Given the description of an element on the screen output the (x, y) to click on. 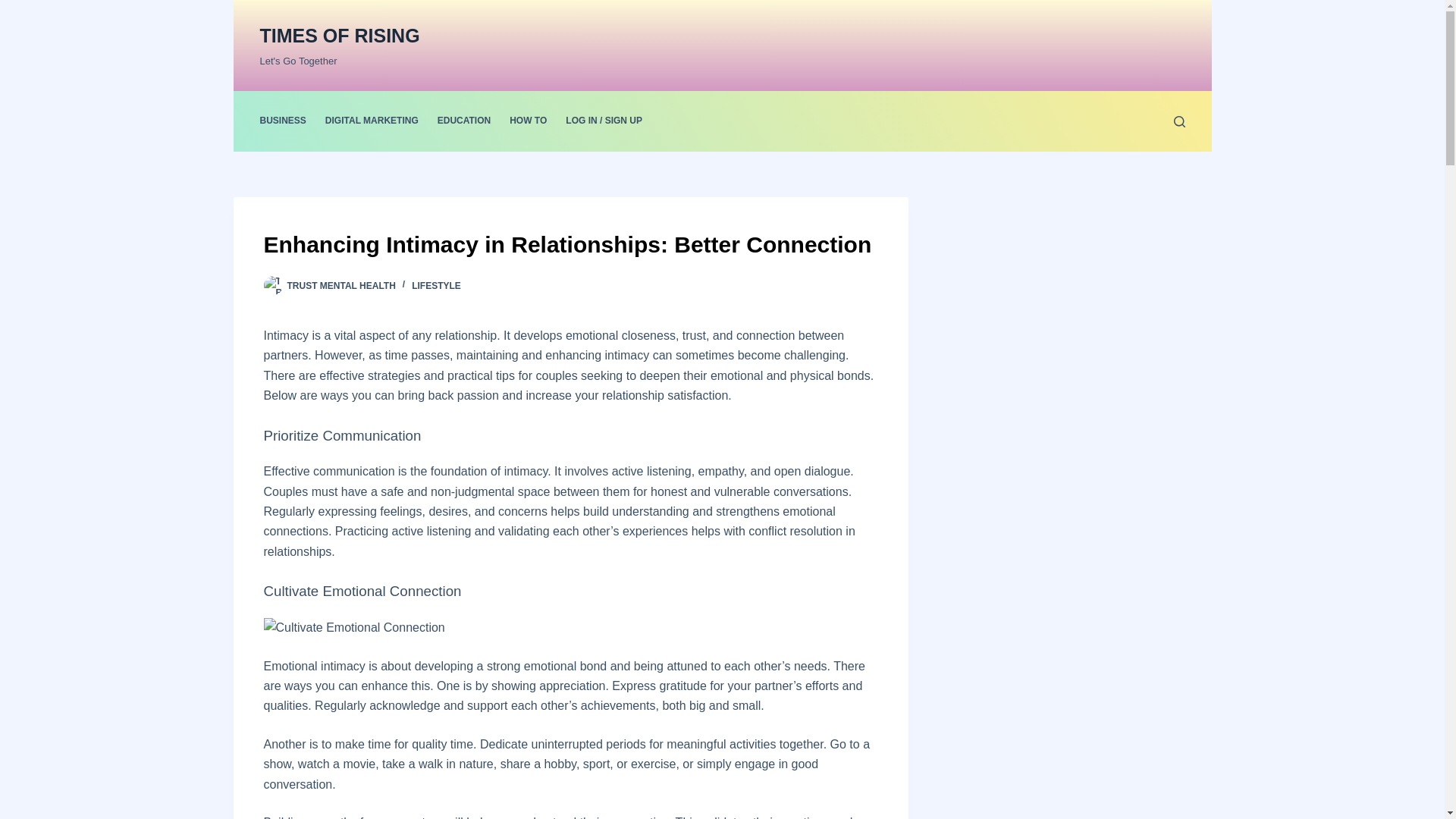
Posts by trust mental health (340, 285)
Enhancing Intimacy in Relationships: Better Connection (570, 244)
HOW TO (528, 120)
DIGITAL MARKETING (371, 120)
Enhancing Intimacy in Relationships: Better Connection 1 (354, 628)
EDUCATION (463, 120)
LIFESTYLE (436, 285)
TIMES OF RISING (339, 35)
Skip to content (15, 7)
BUSINESS (287, 120)
TRUST MENTAL HEALTH (340, 285)
